Given the description of an element on the screen output the (x, y) to click on. 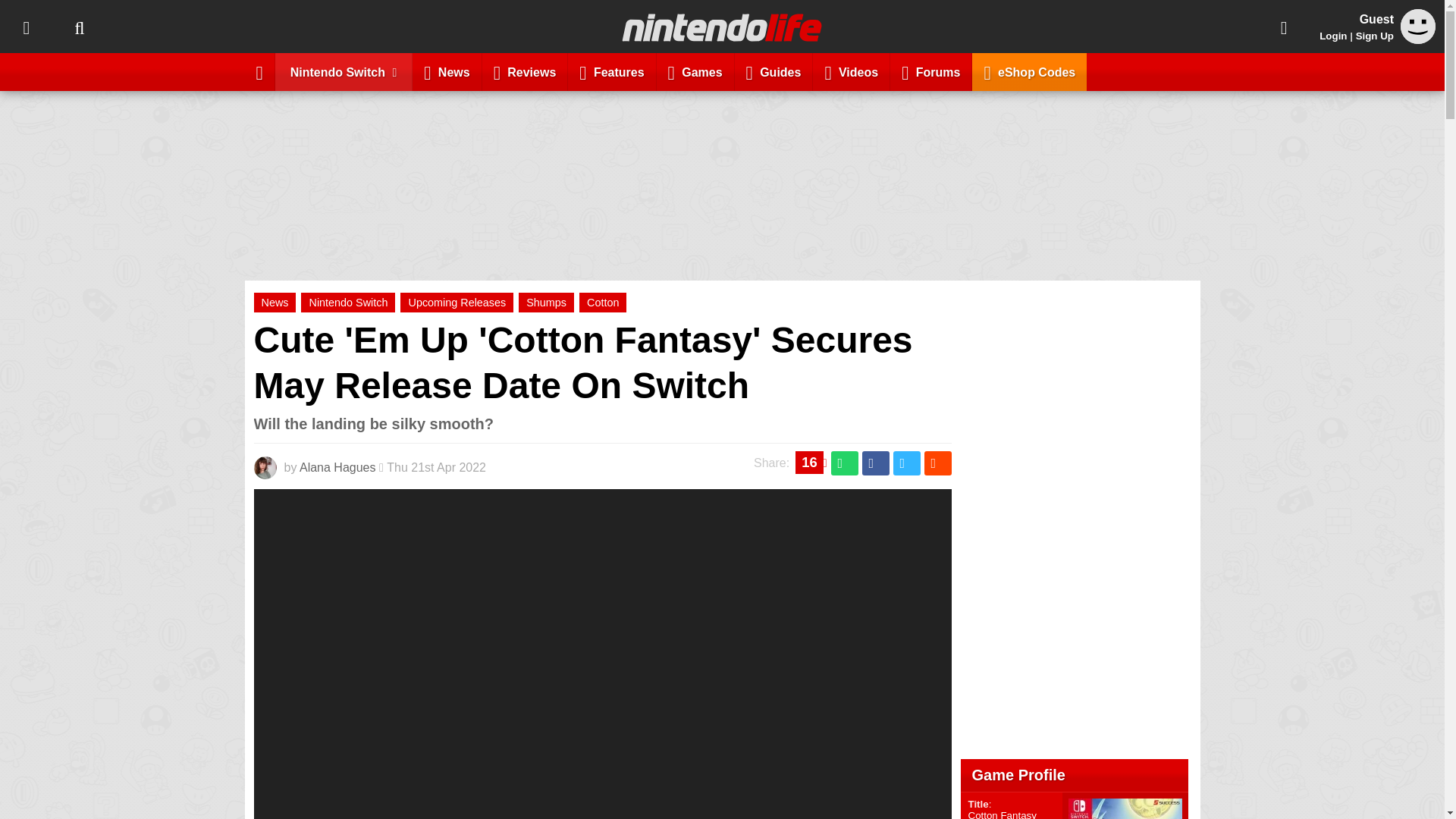
eShop Codes (1029, 71)
Search (79, 26)
Topics (26, 26)
Sign Up (1374, 35)
Guest (1417, 39)
Nintendo Switch (344, 71)
News (446, 71)
Features (611, 71)
Guides (774, 71)
Forums (930, 71)
Share This Page (1283, 26)
Guest (1417, 26)
Reviews (525, 71)
Videos (850, 71)
Nintendo Life (721, 27)
